Given the description of an element on the screen output the (x, y) to click on. 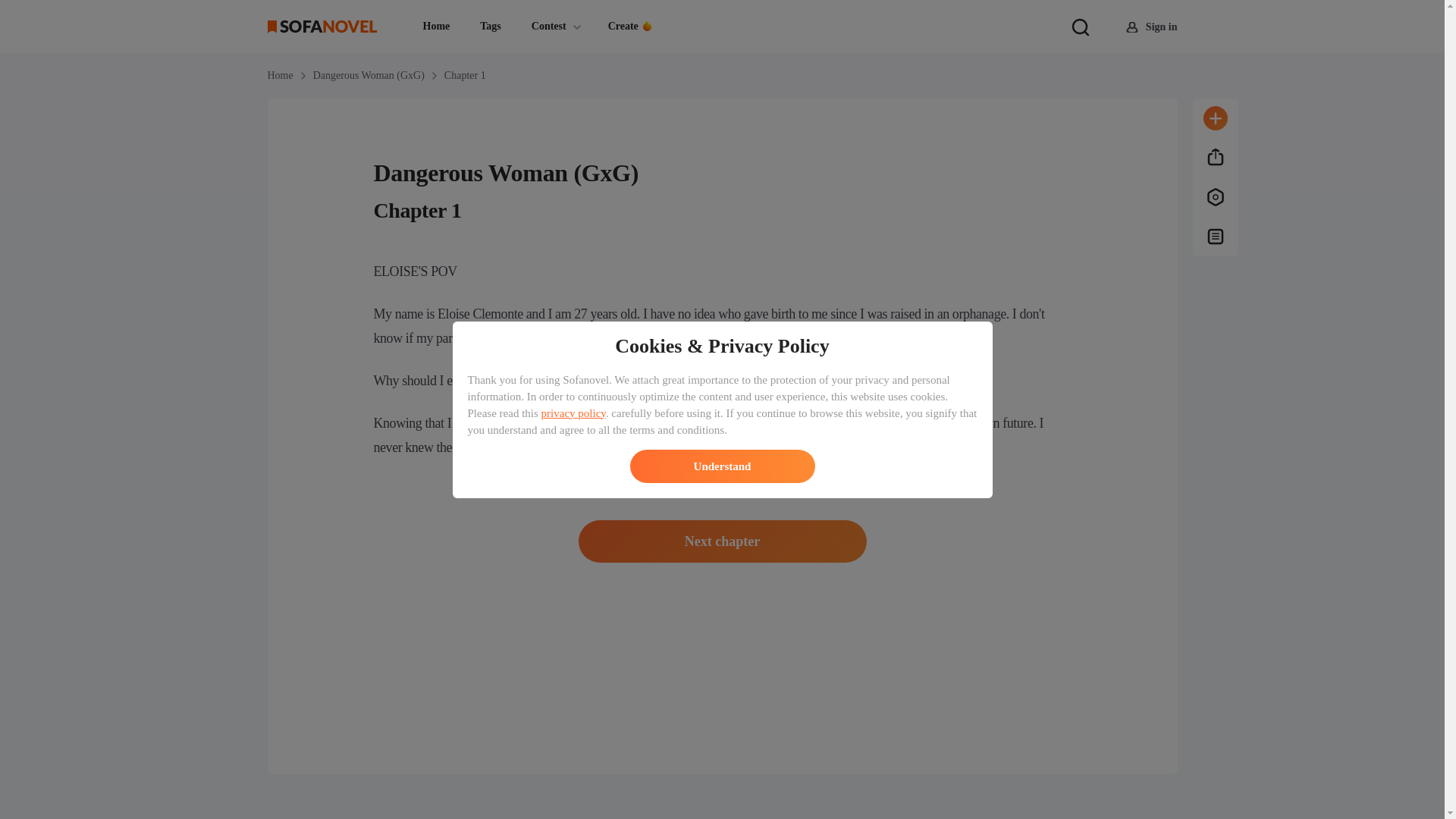
Sign in (1151, 27)
Add to library (1214, 118)
Home (279, 75)
Create (630, 39)
privacy policy (573, 412)
